Given the description of an element on the screen output the (x, y) to click on. 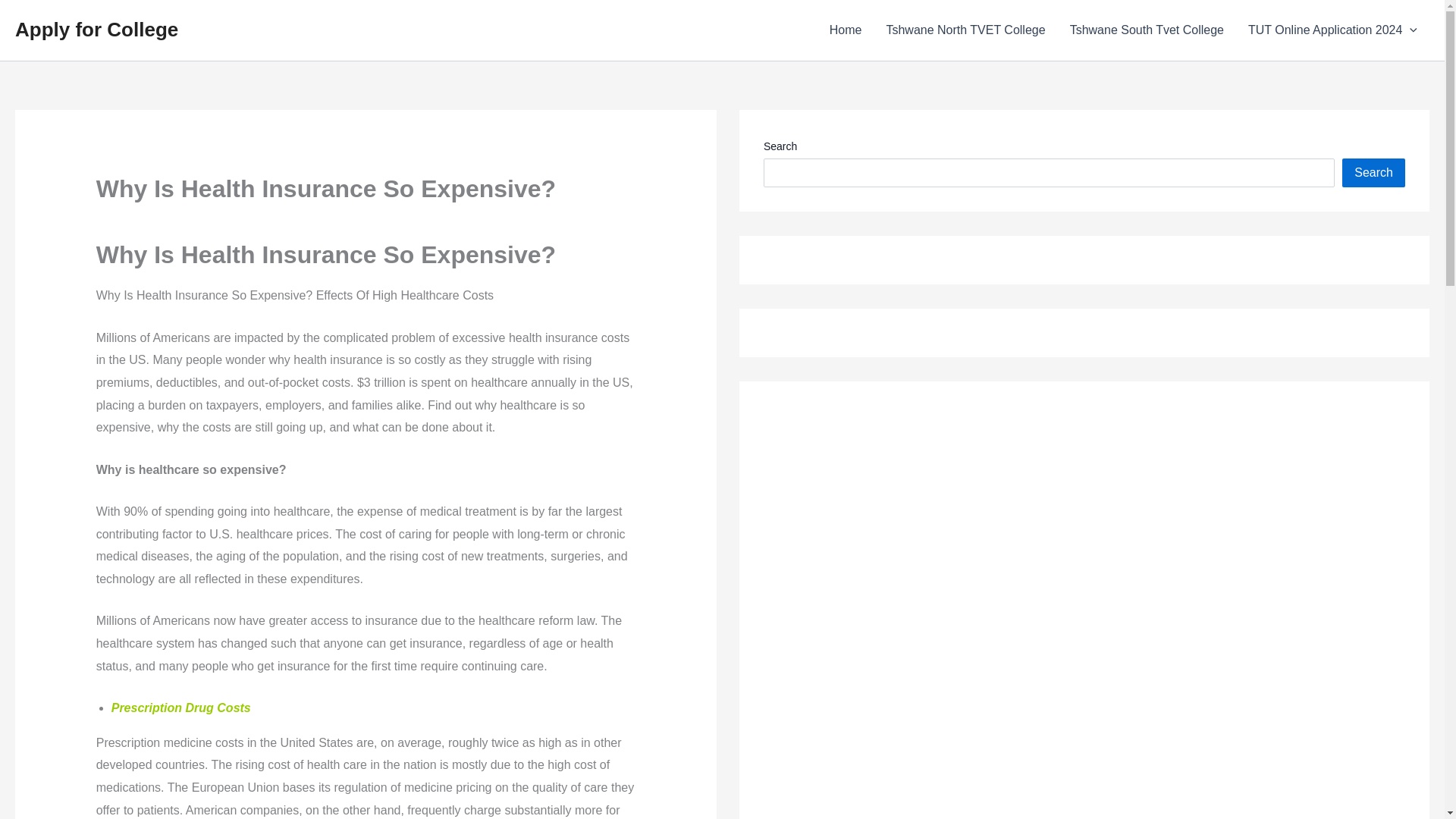
Apply for College (95, 29)
Search (1373, 172)
TUT Online Application 2024 (1332, 30)
Tshwane South Tvet College (1147, 30)
Advertisement (863, 612)
Home (845, 30)
Tshwane North TVET College (965, 30)
